Given the description of an element on the screen output the (x, y) to click on. 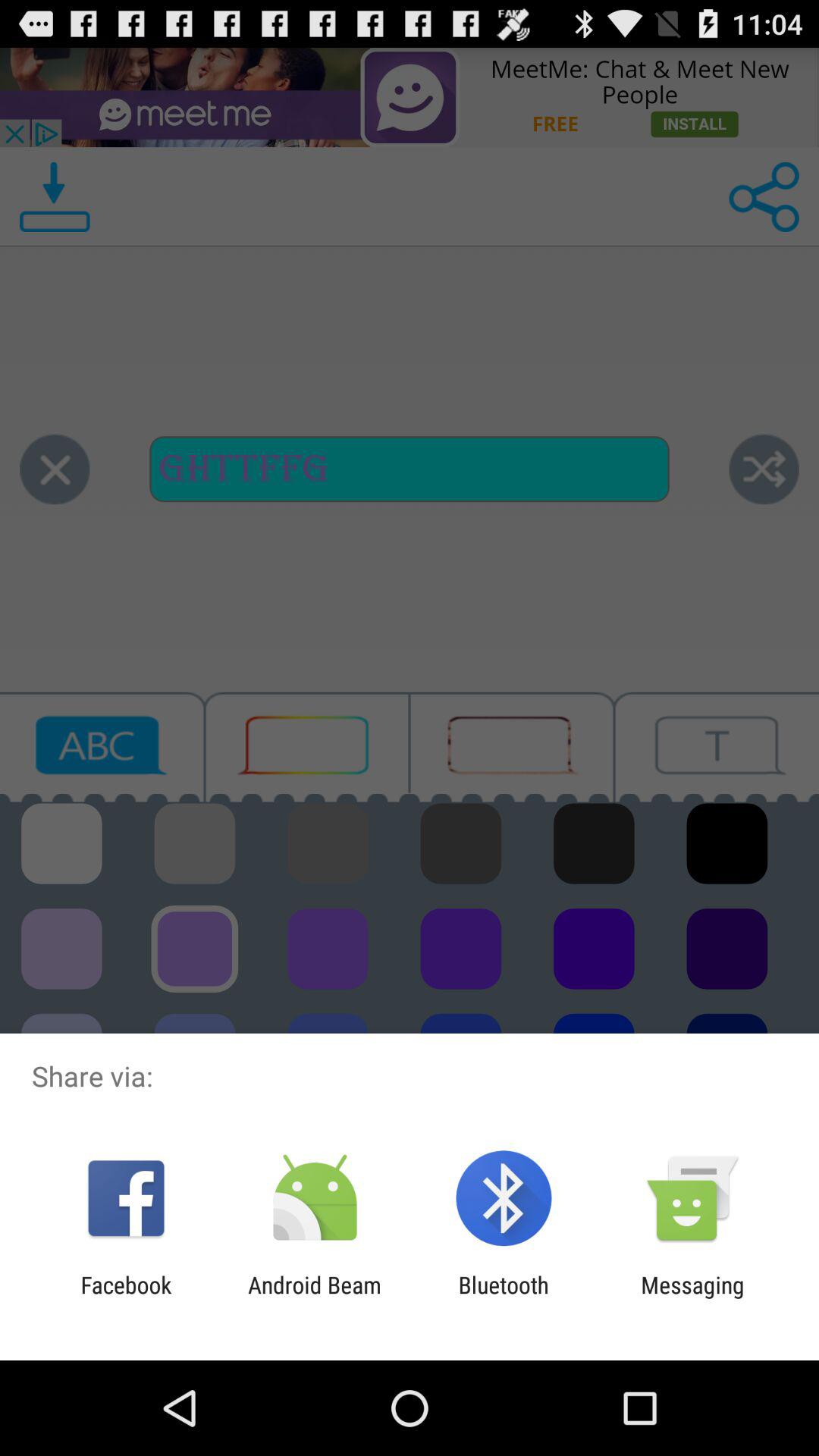
turn on app to the right of bluetooth icon (692, 1298)
